Given the description of an element on the screen output the (x, y) to click on. 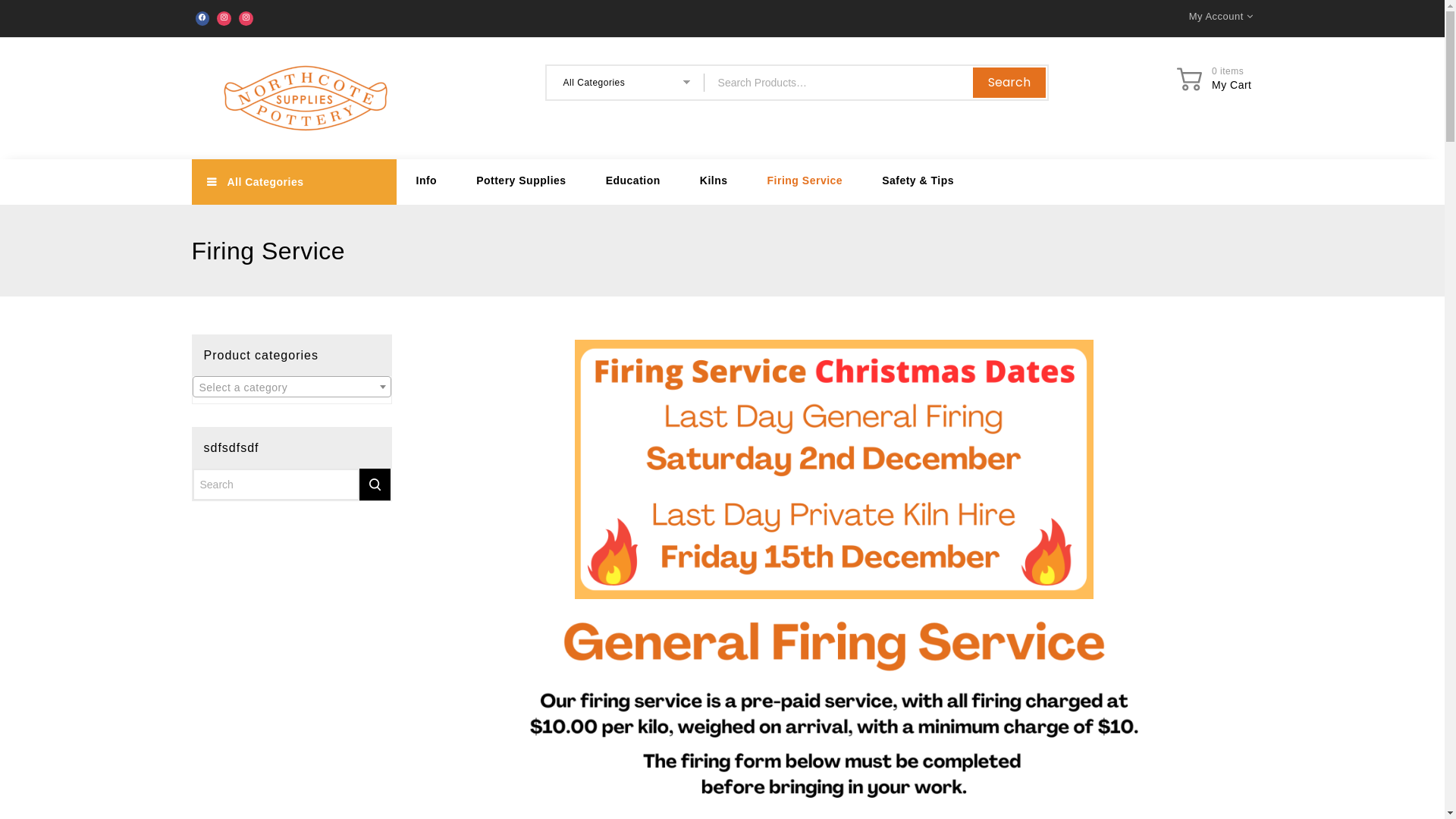
Pottery Supplies Element type: text (520, 181)
Northcote Pottery Supplies Element type: hover (304, 98)
Search for: Element type: hover (842, 82)
Go Element type: text (374, 484)
Search Element type: text (1008, 82)
Info Element type: text (425, 181)
Education Element type: text (633, 181)
Firing Service Element type: text (804, 181)
0 items Element type: text (1227, 71)
Safety & Tips Element type: text (917, 181)
Kilns Element type: text (713, 181)
